Given the description of an element on the screen output the (x, y) to click on. 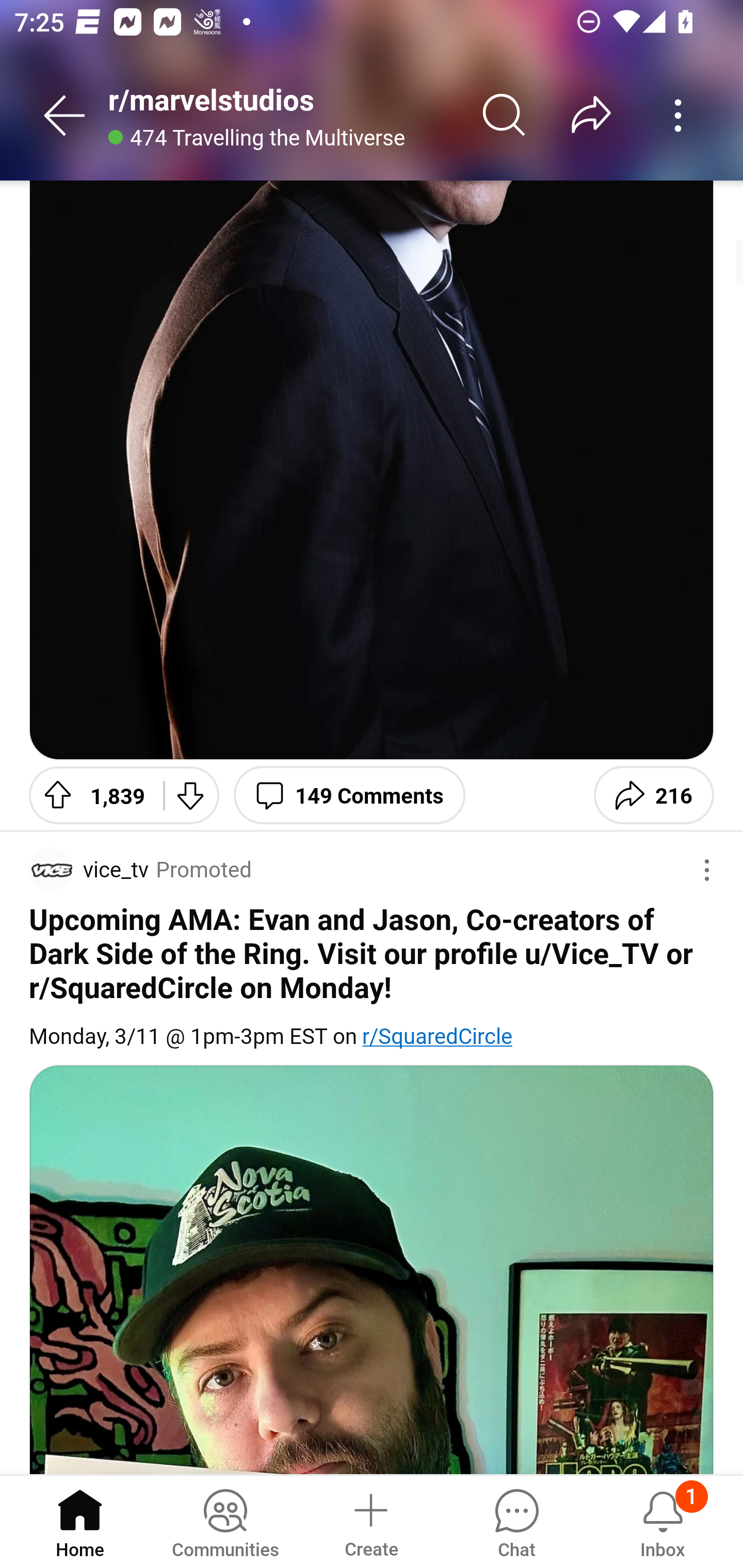
Back (64, 115)
Search r/﻿marvelstudios (504, 115)
Share r/﻿marvelstudios (591, 115)
More community actions (677, 115)
Image (371, 470)
Upvote 1,839 (88, 794)
Downvote (191, 794)
149 Comments (349, 794)
Share 216 (653, 794)
Author vice_tv (88, 869)
Image (371, 1268)
Home (80, 1520)
Communities (225, 1520)
Create a post Create (370, 1520)
Chat (516, 1520)
Inbox, has 1 notification 1 Inbox (662, 1520)
